Given the description of an element on the screen output the (x, y) to click on. 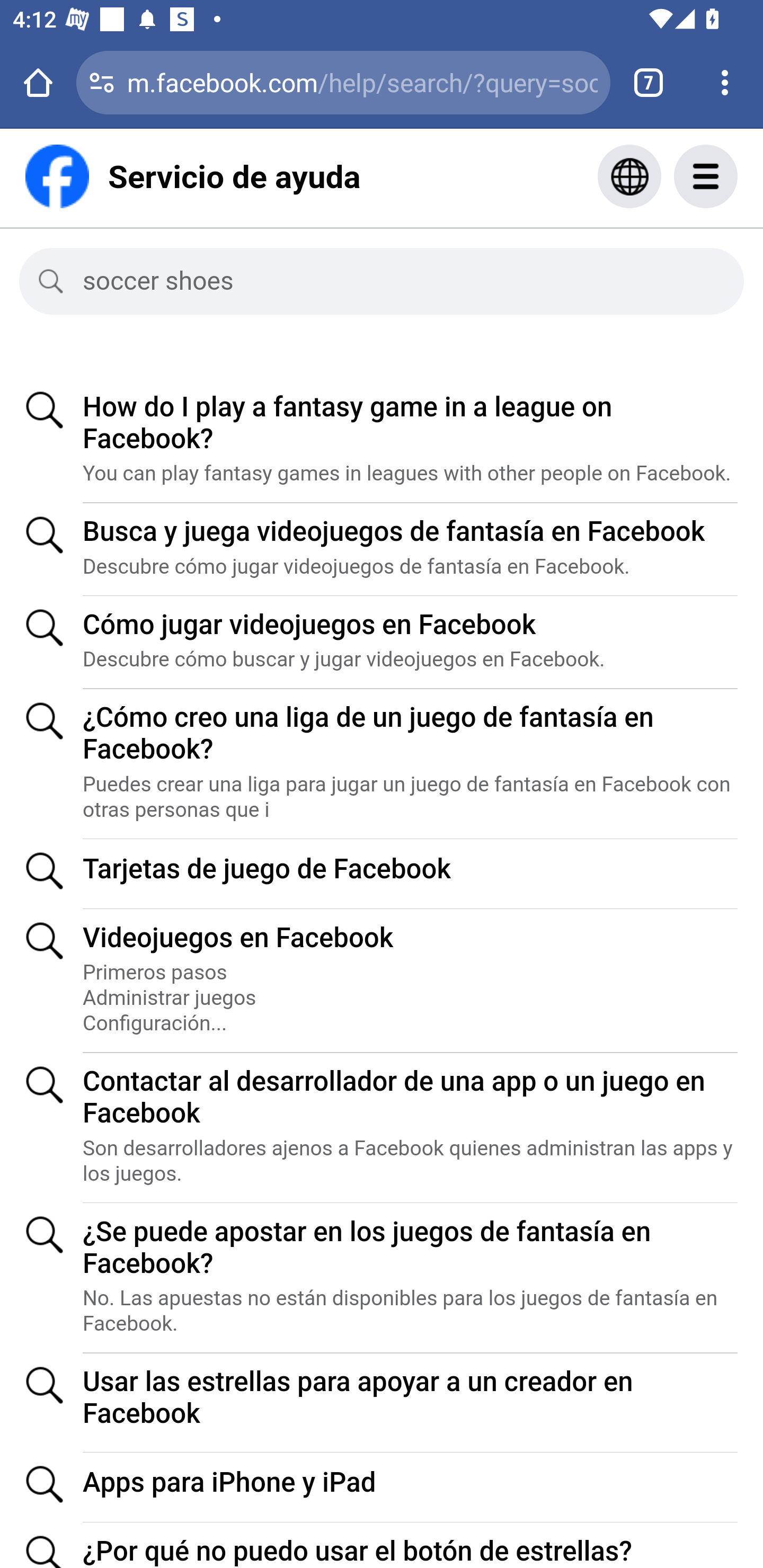
Open the home page (38, 82)
Connection is secure (101, 82)
Switch or close tabs (648, 82)
Customize and control Google Chrome (724, 82)
Servicio de ayuda S9-8mgjtmdP Servicio de ayuda (192, 176)
Seleccionar el idioma (629, 176)
Menú del servicio de ayuda (724, 176)
soccer shoes (397, 281)
Tarjetas de juego de Facebook  (409, 874)
Apps para iPhone y iPad  (409, 1488)
